Given the description of an element on the screen output the (x, y) to click on. 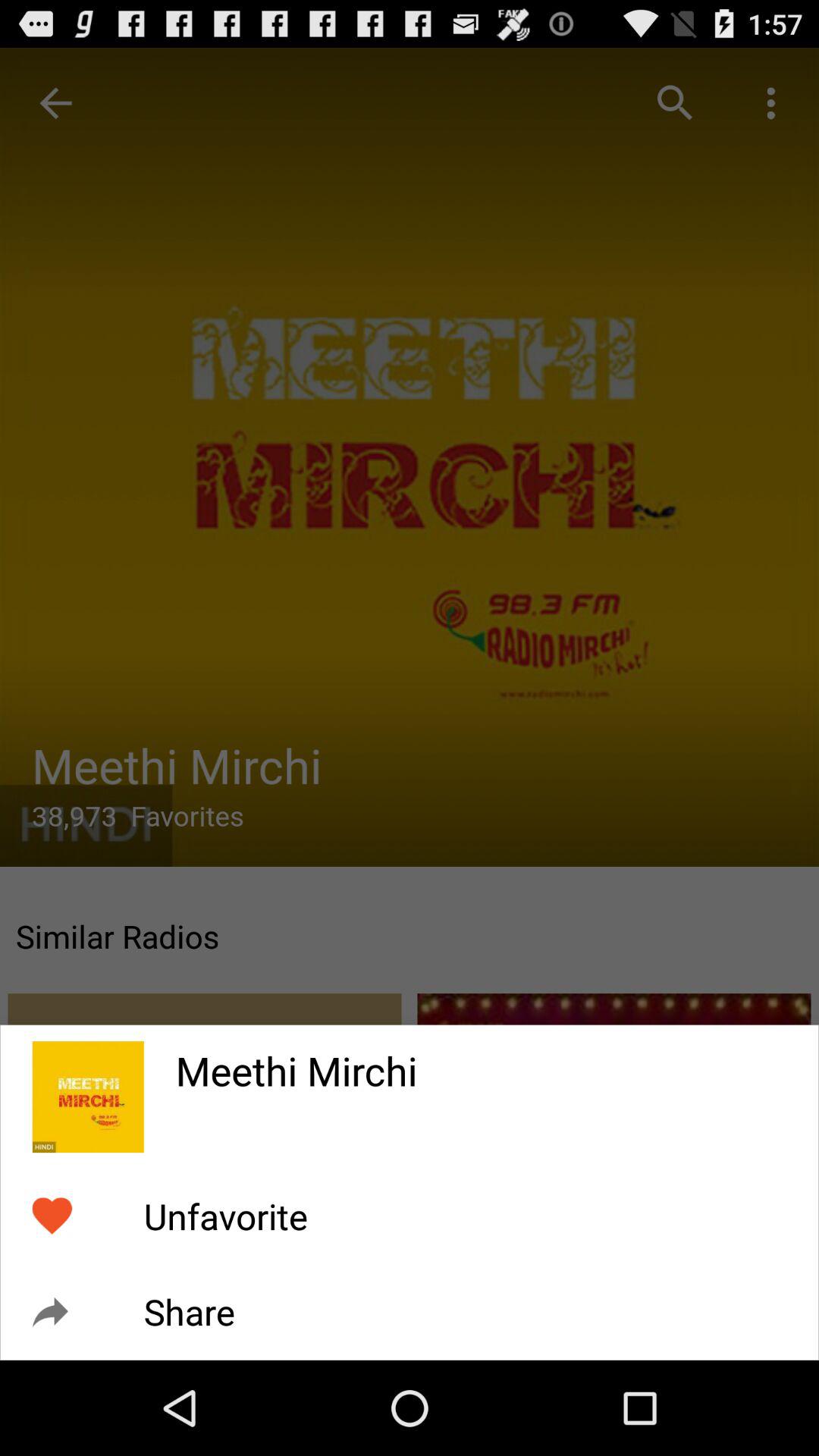
turn on the item below unfavorite (188, 1311)
